Given the description of an element on the screen output the (x, y) to click on. 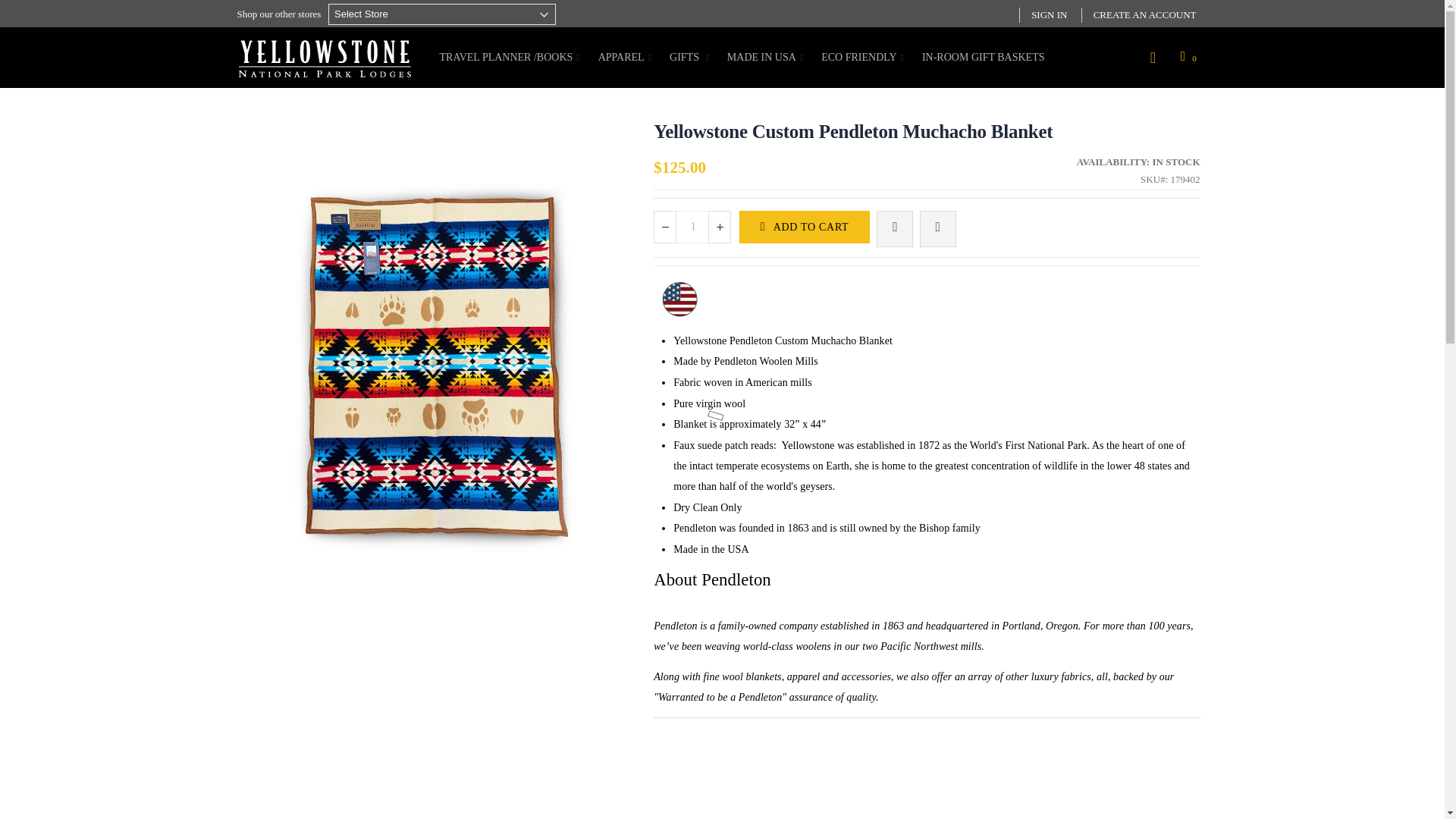
1 (693, 226)
Apparel (625, 56)
CREATE AN ACCOUNT (1144, 14)
APPAREL (625, 56)
GIFTS (689, 56)
SIGN IN (1048, 14)
Yellowstone National Park Lodges Shop (322, 54)
